Given the description of an element on the screen output the (x, y) to click on. 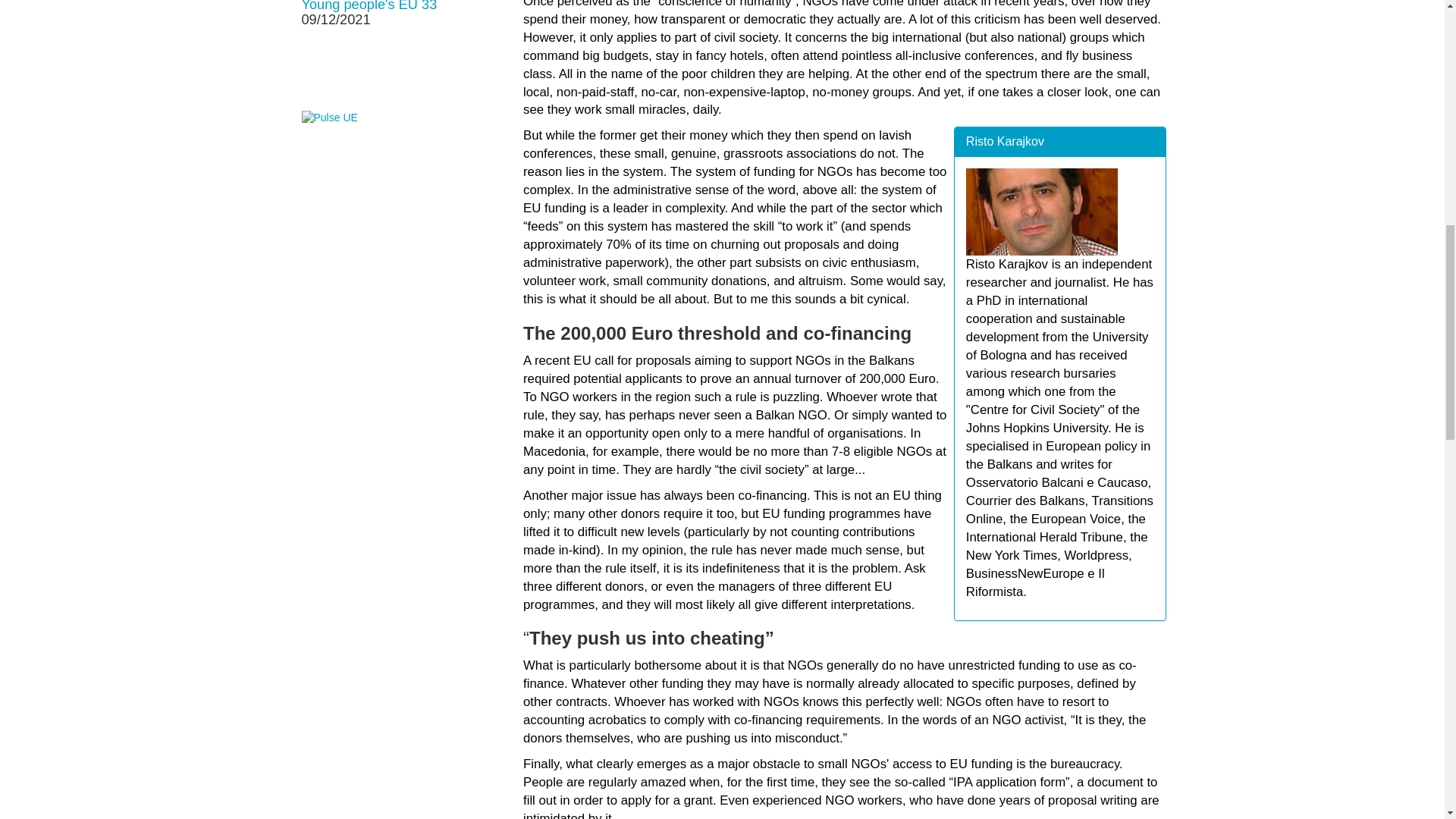
Pulse UE (329, 118)
